Given the description of an element on the screen output the (x, y) to click on. 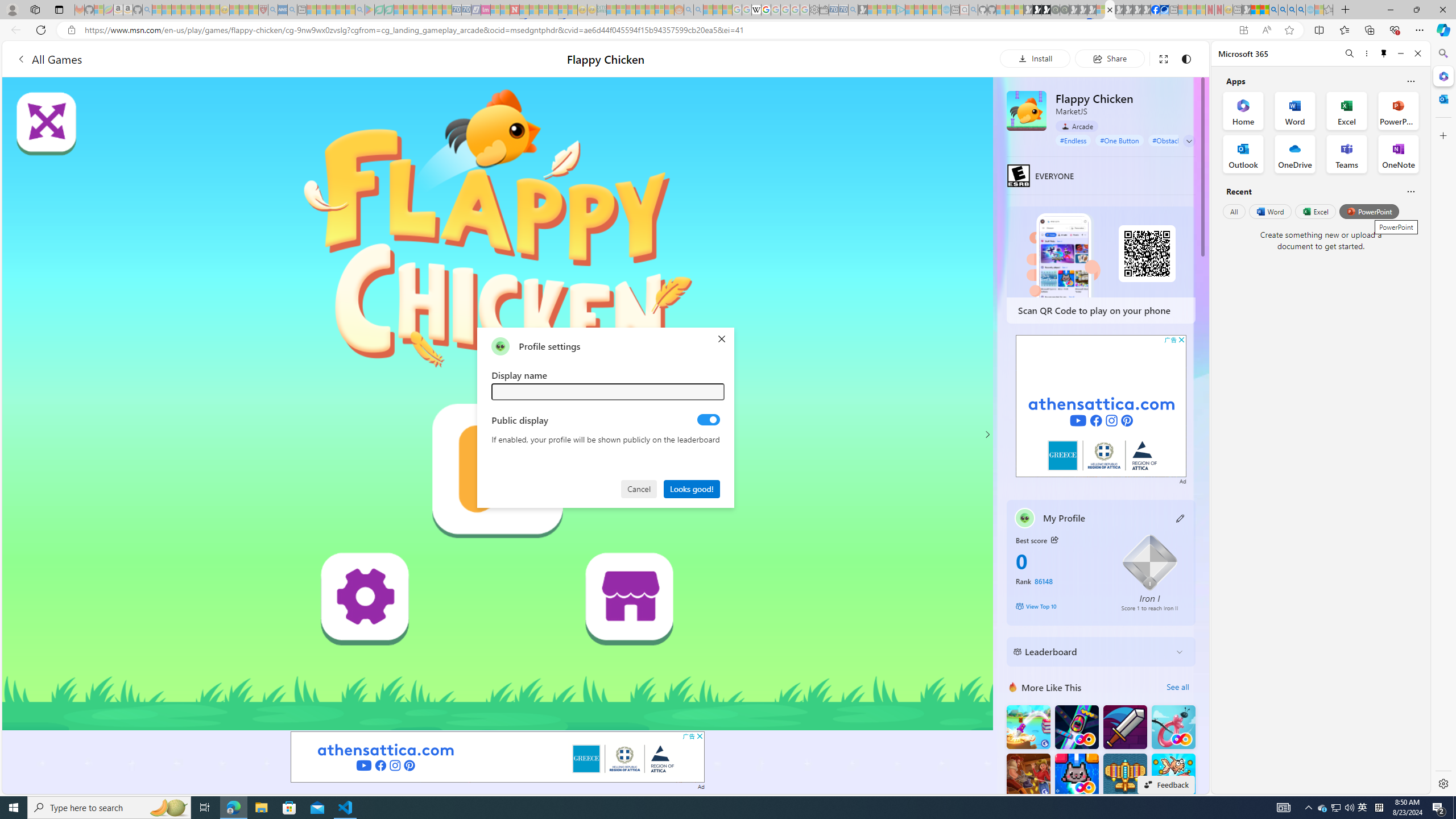
All (1233, 210)
OneNote Office App (1398, 154)
Install (1034, 58)
